Given the description of an element on the screen output the (x, y) to click on. 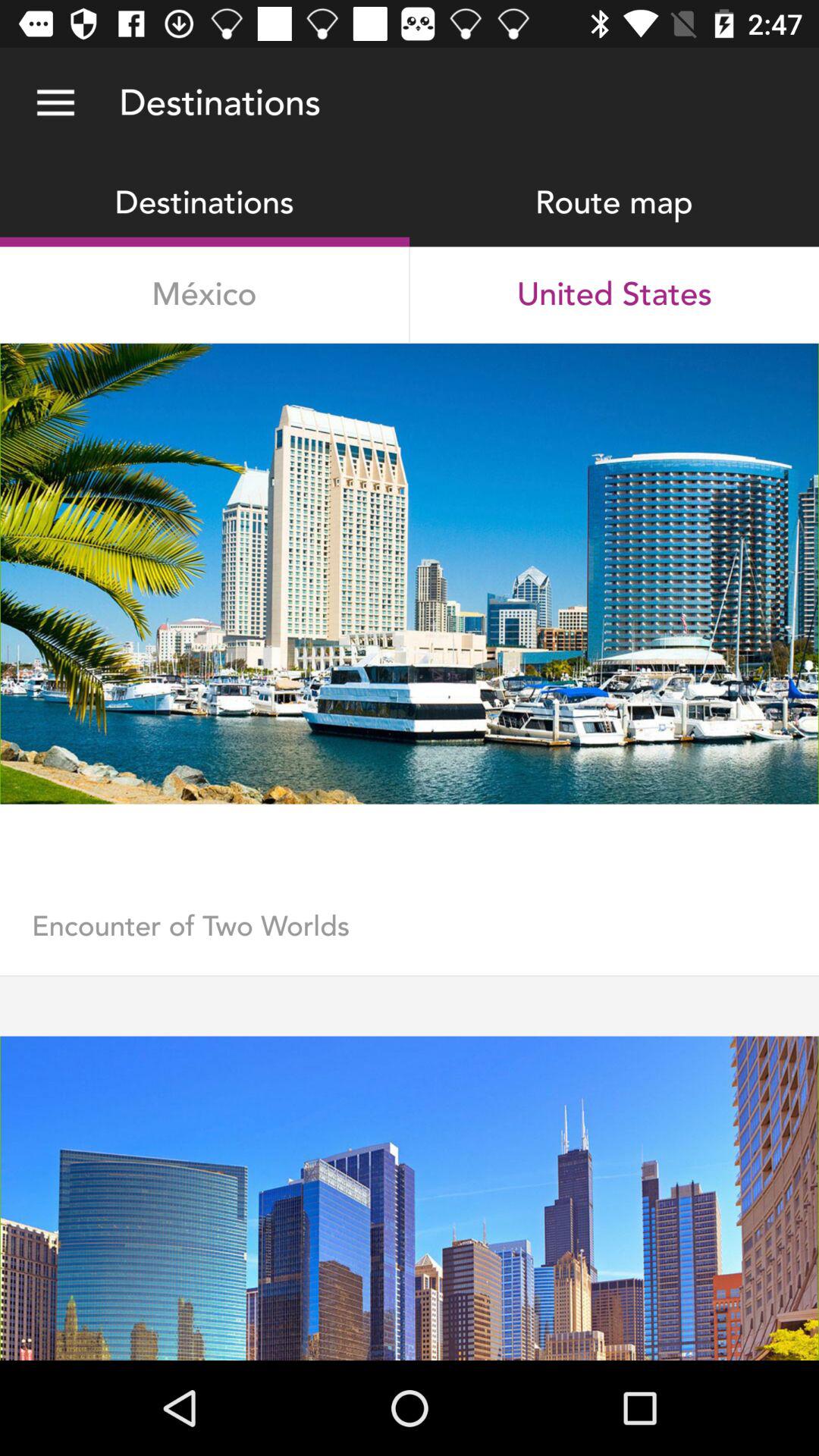
choose the icon to the left of destinations (55, 103)
